Given the description of an element on the screen output the (x, y) to click on. 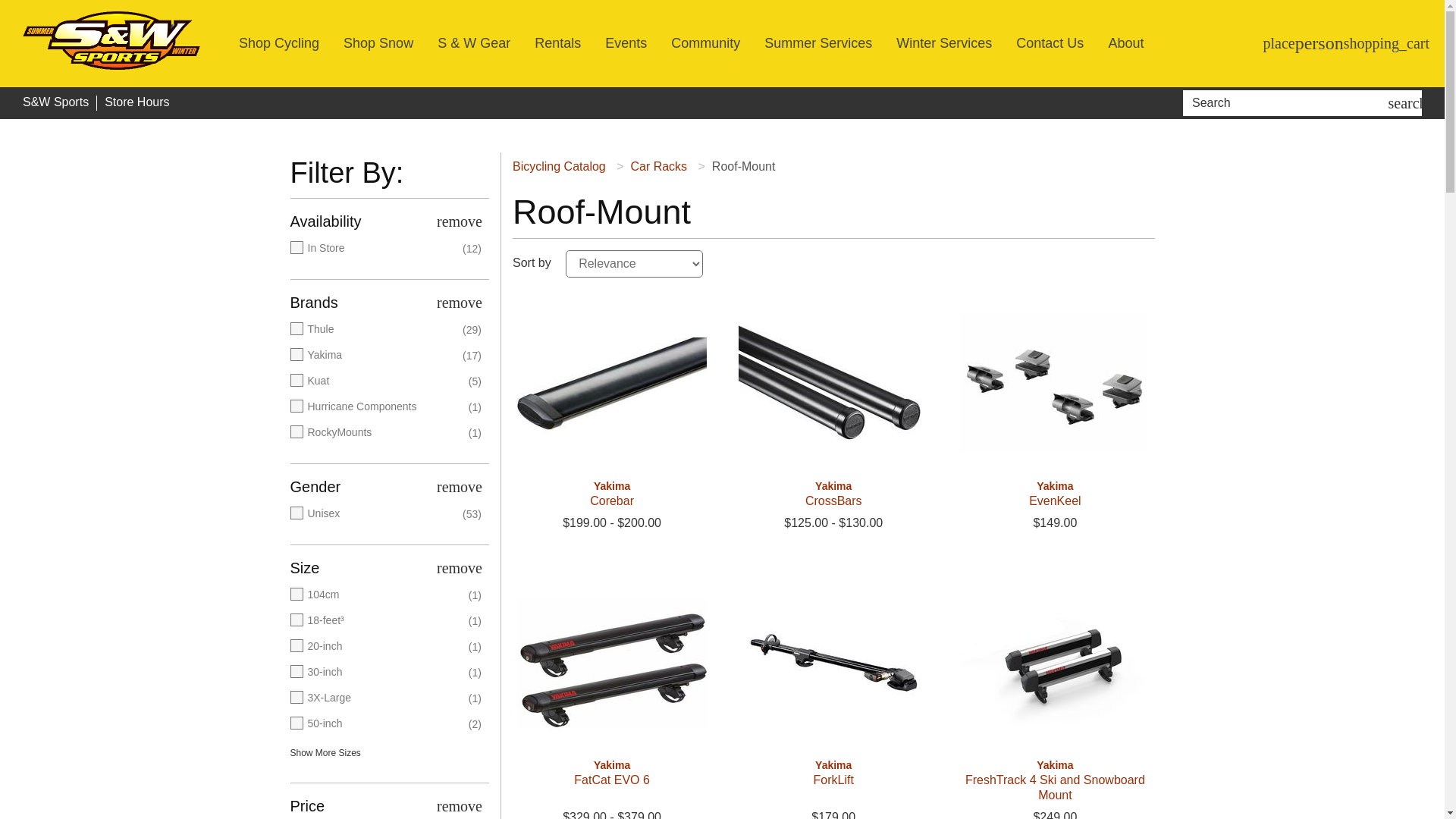
Account (1319, 43)
Search (1287, 103)
Stores (1279, 43)
Store Hours (136, 102)
Shop Cycling (278, 43)
